Given the description of an element on the screen output the (x, y) to click on. 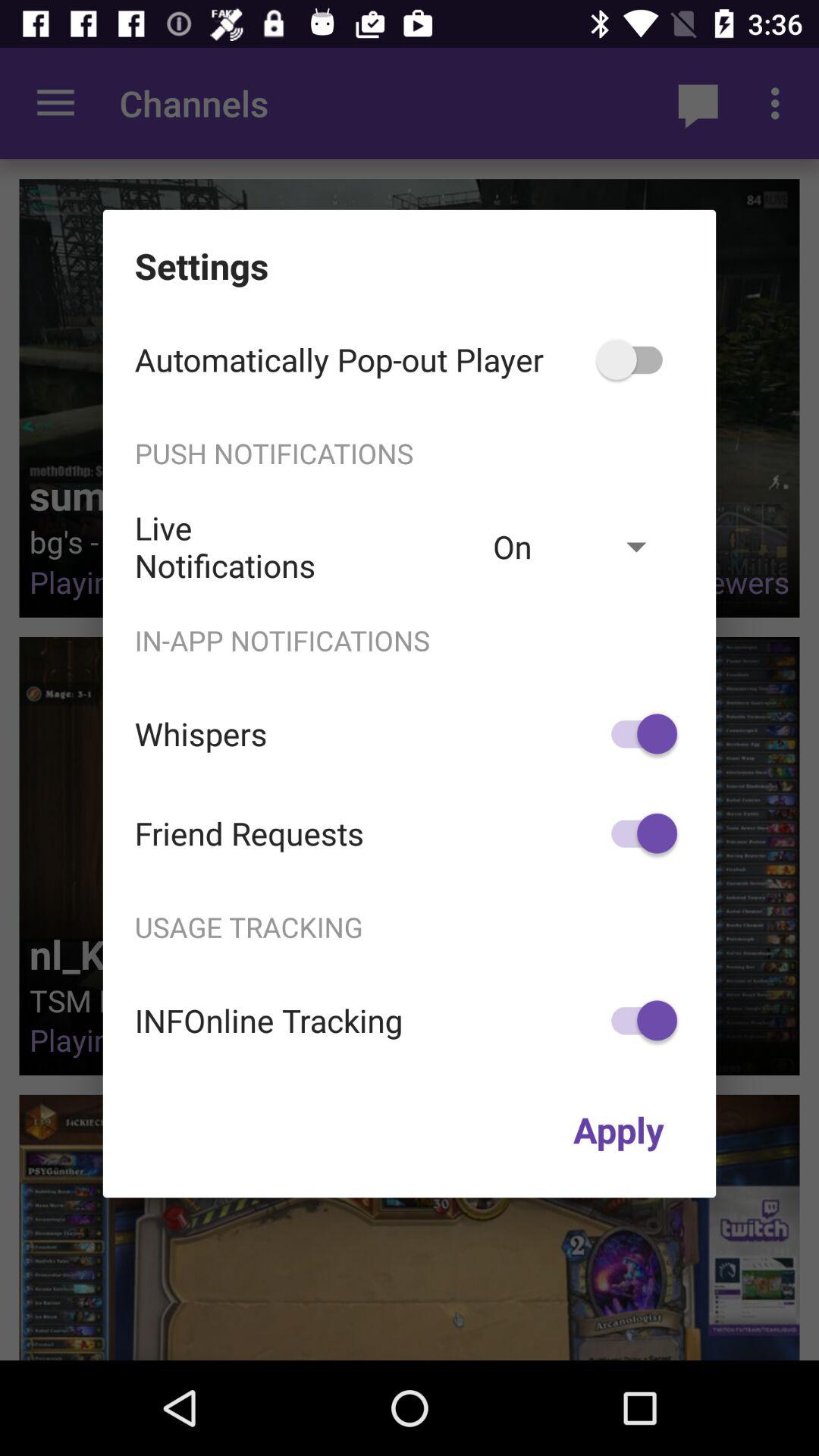
select item below in-app notifications icon (636, 733)
